Given the description of an element on the screen output the (x, y) to click on. 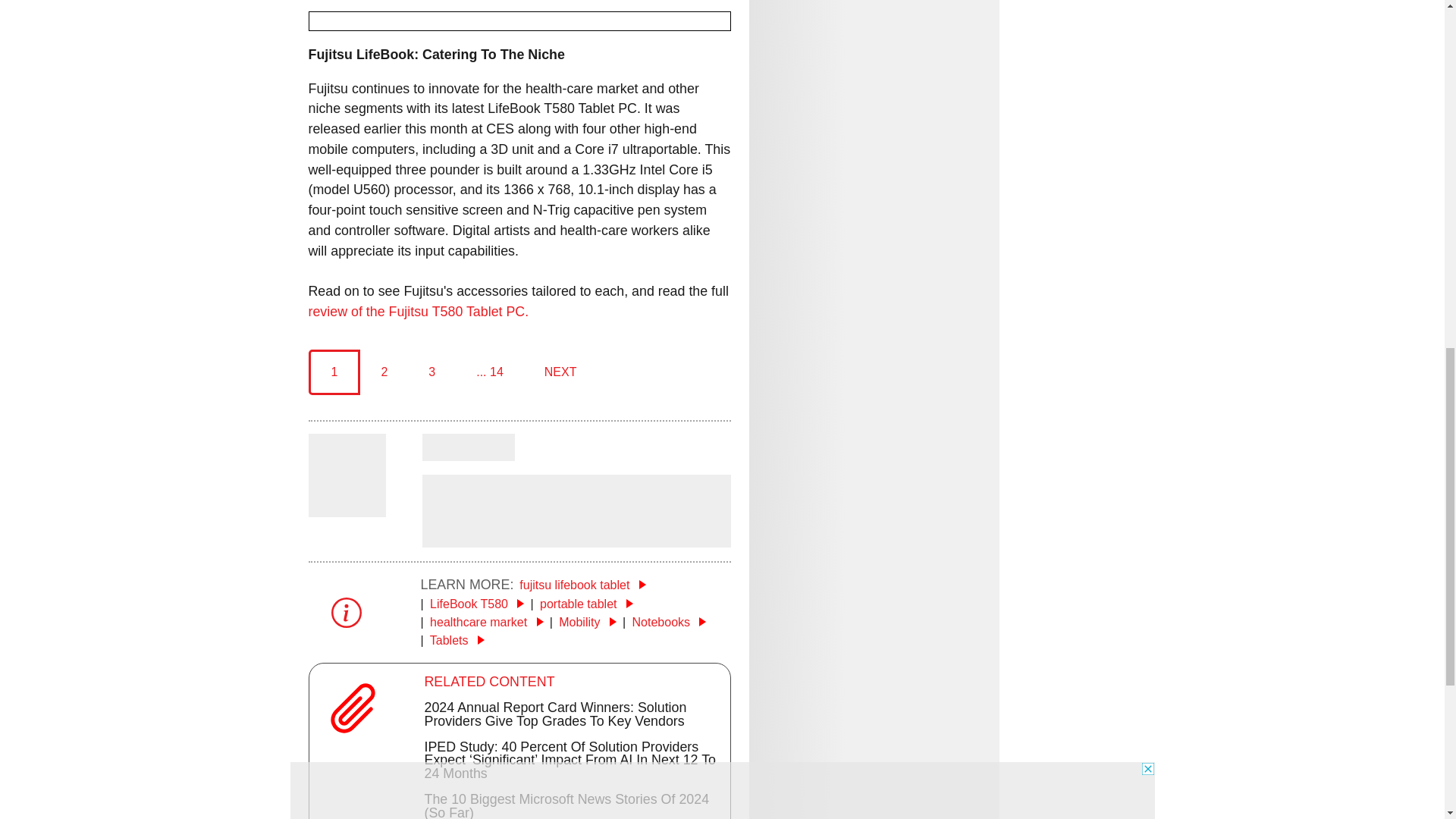
... 14 (489, 372)
Author Name (467, 447)
Mobility (587, 621)
NEXT (560, 372)
fujitsu lifebook tablet (582, 584)
healthcare market (486, 621)
3 (431, 372)
healthcare market (486, 621)
Tablets (456, 640)
